Given the description of an element on the screen output the (x, y) to click on. 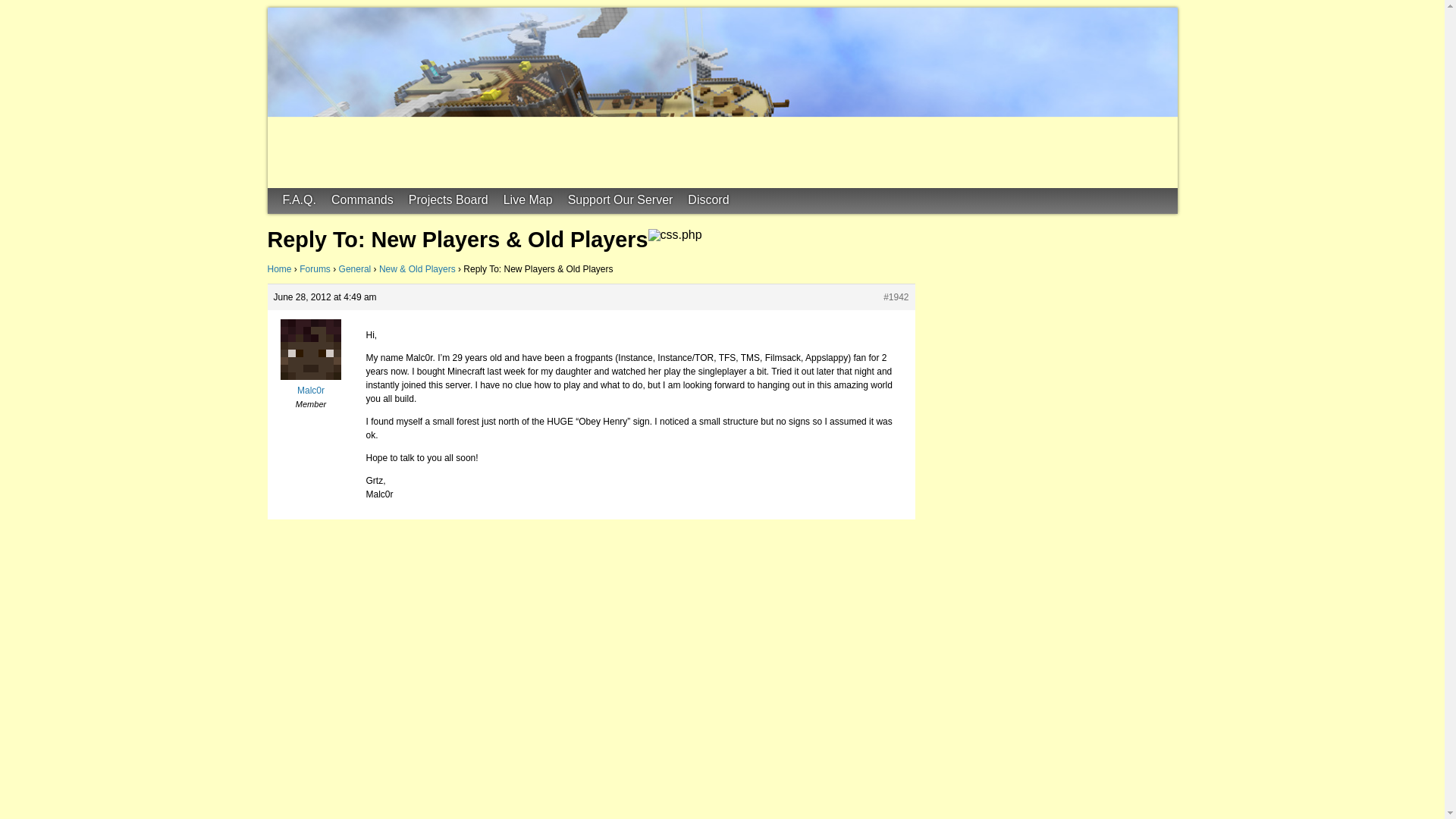
Commands (362, 200)
F.A.Q. (299, 200)
View Malc0r's profile (309, 384)
Support Our Server (620, 200)
FinalScore MC (342, 17)
Projects Board (448, 200)
FinalScore MC (342, 17)
Live Map (528, 200)
General (355, 268)
Malc0r (309, 384)
